Given the description of an element on the screen output the (x, y) to click on. 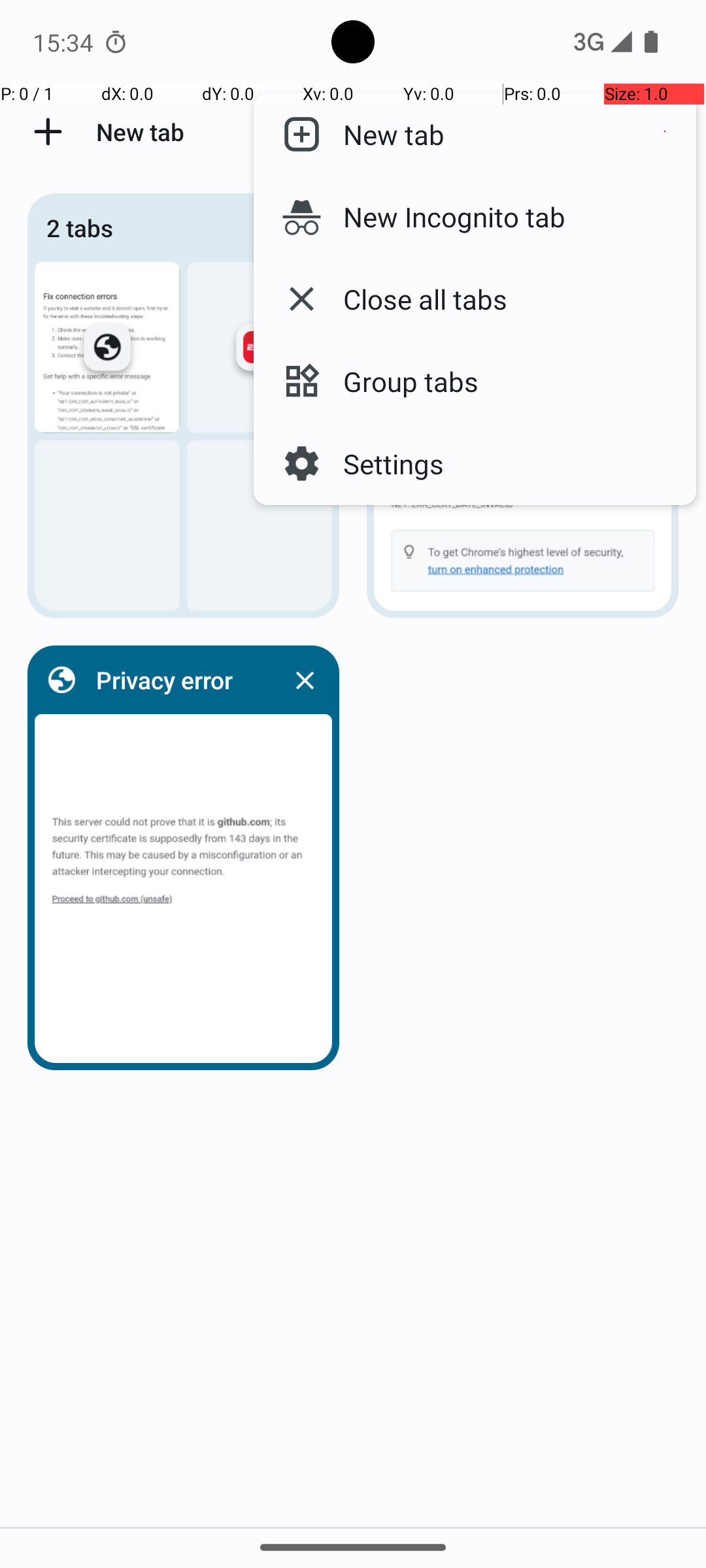
Close all tabs Element type: android.widget.TextView (414, 299)
Group tabs Element type: android.widget.TextView (400, 381)
